Given the description of an element on the screen output the (x, y) to click on. 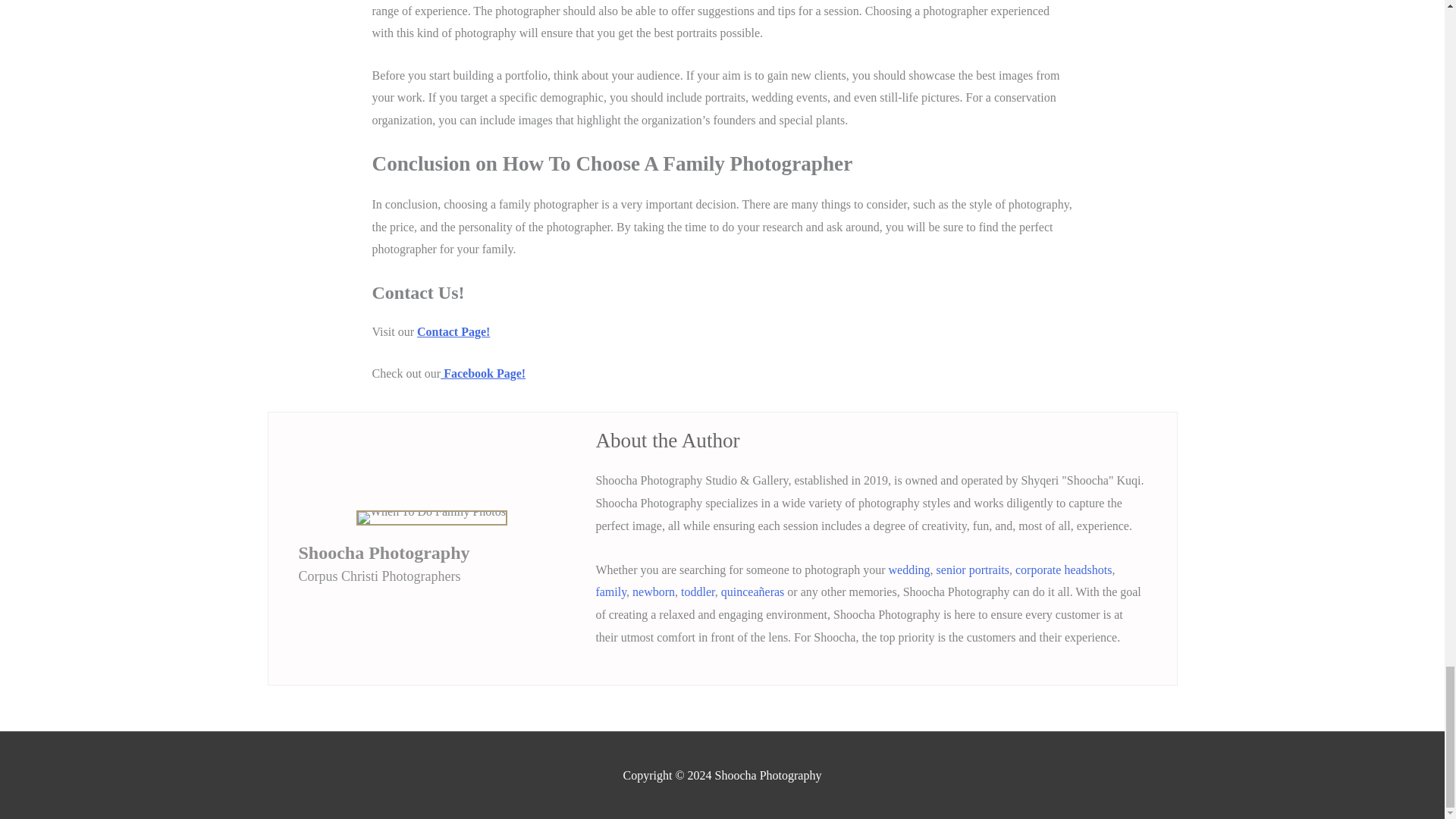
Contact Page! (452, 331)
Facebook Page! (483, 373)
wedding (909, 569)
